Given the description of an element on the screen output the (x, y) to click on. 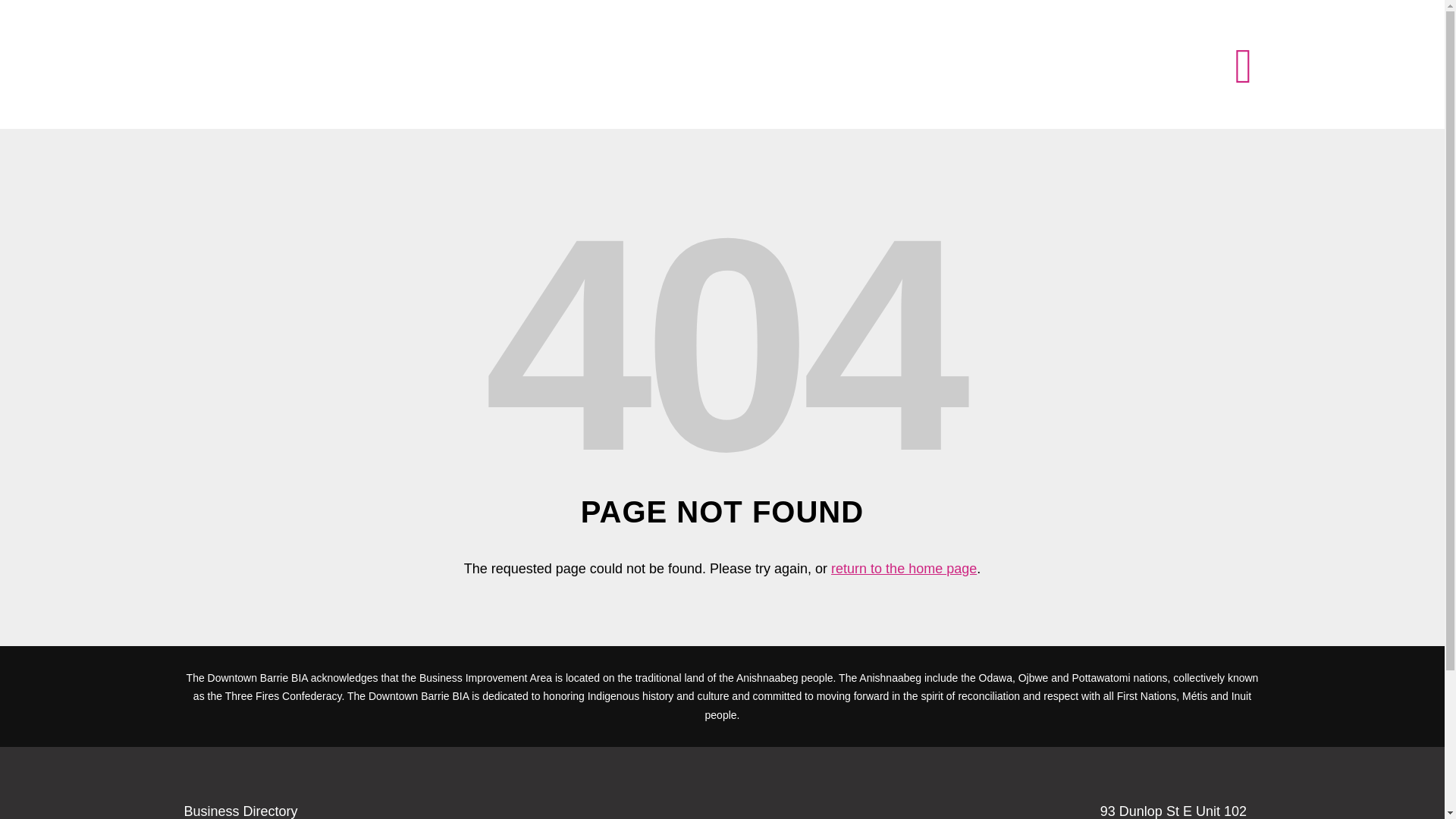
Business Directory (240, 811)
return to the home page (903, 568)
Business Directory (240, 811)
Downtown Barrie (903, 568)
